Given the description of an element on the screen output the (x, y) to click on. 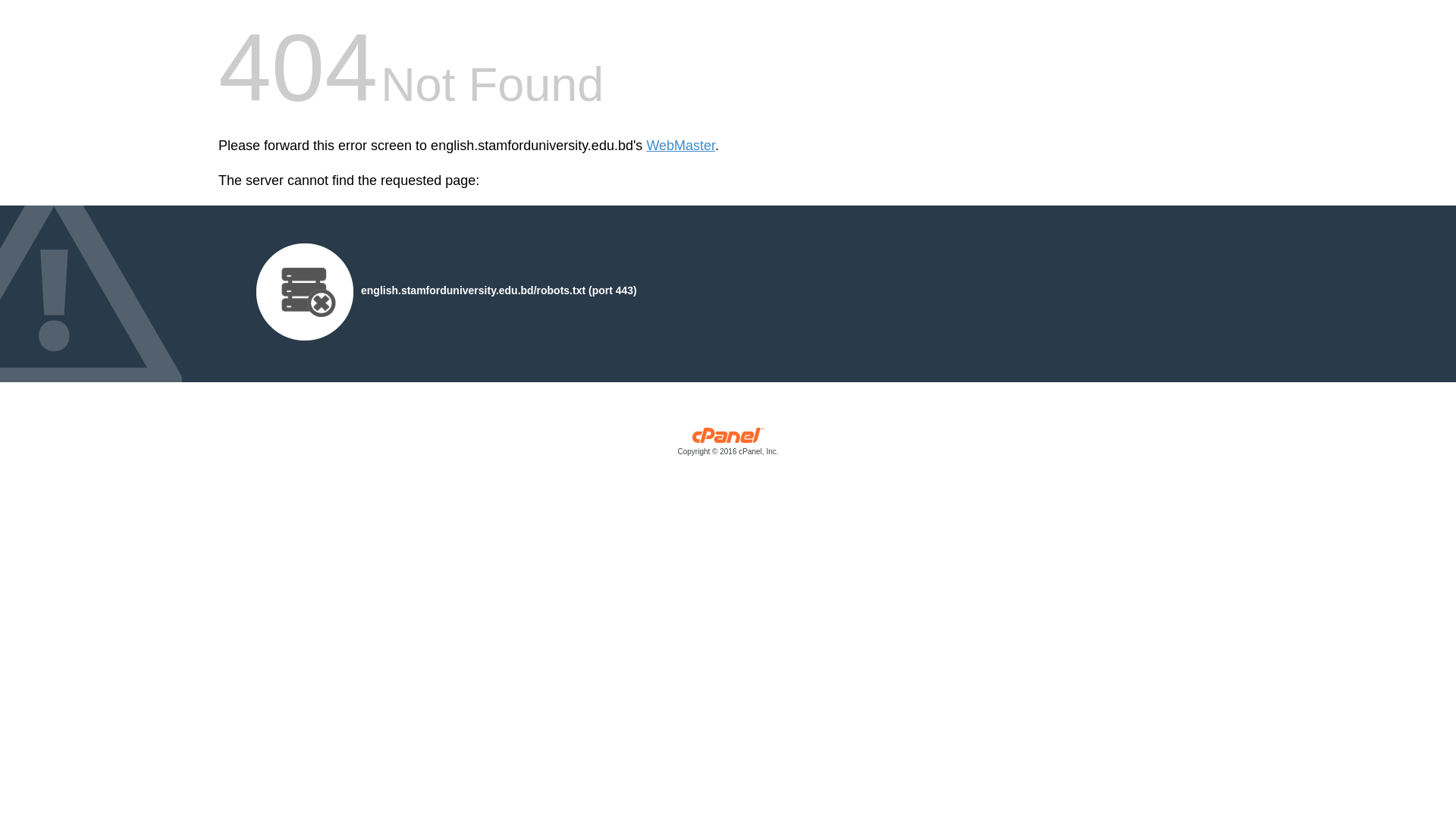
WebMaster Element type: text (680, 145)
